Given the description of an element on the screen output the (x, y) to click on. 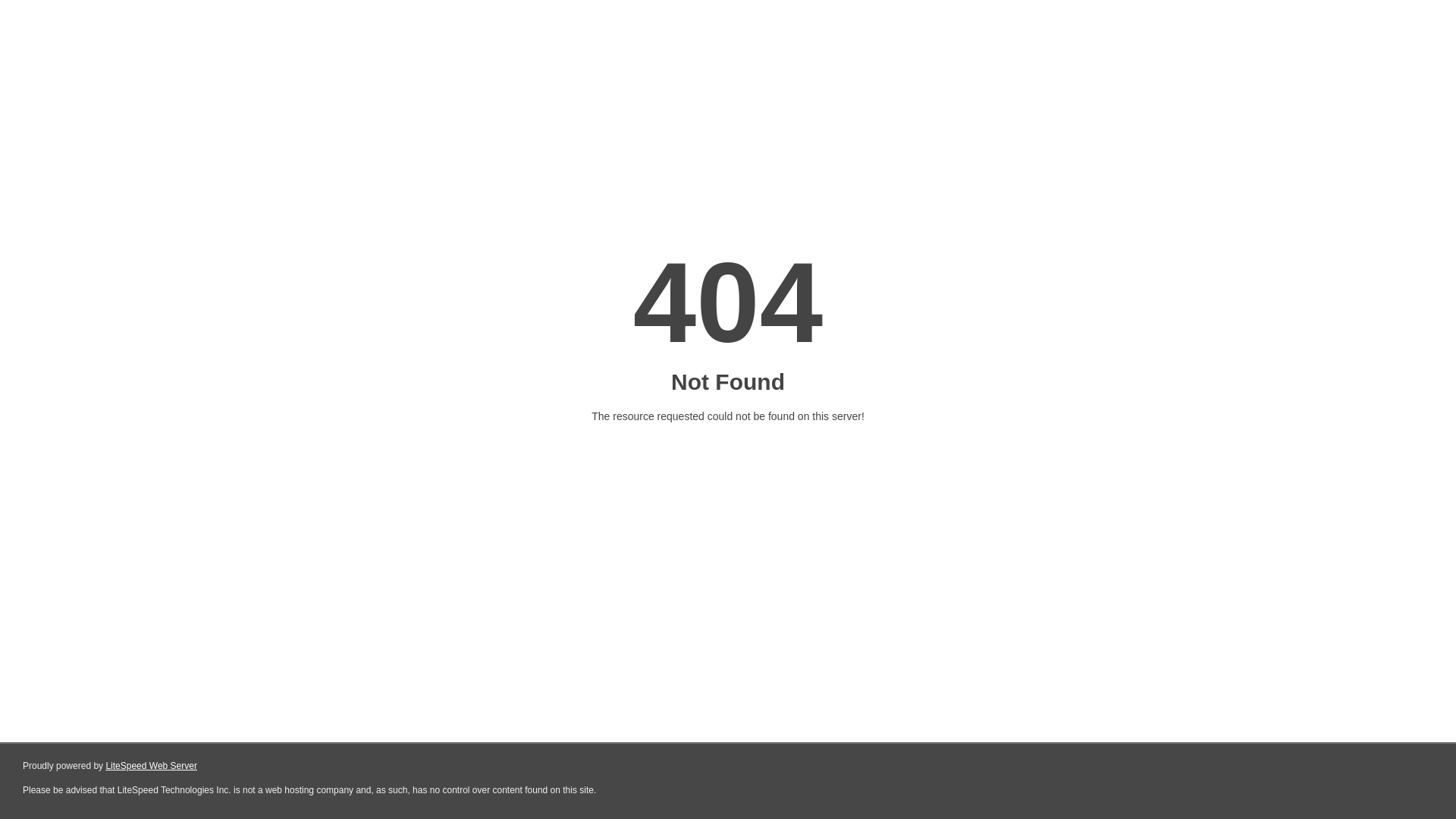
LiteSpeed Web Server Element type: text (151, 765)
